Given the description of an element on the screen output the (x, y) to click on. 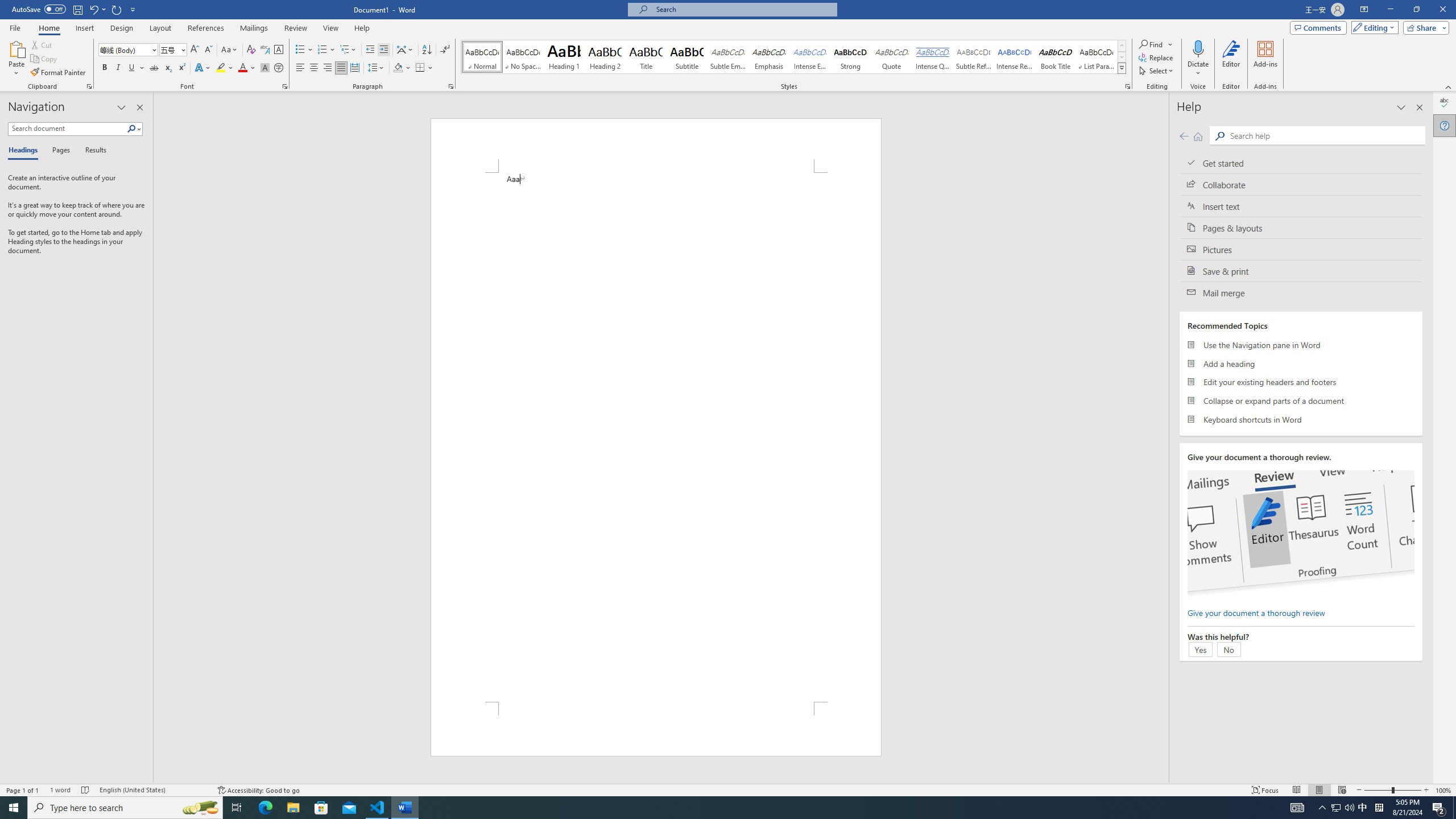
Get started (1300, 162)
